Given the description of an element on the screen output the (x, y) to click on. 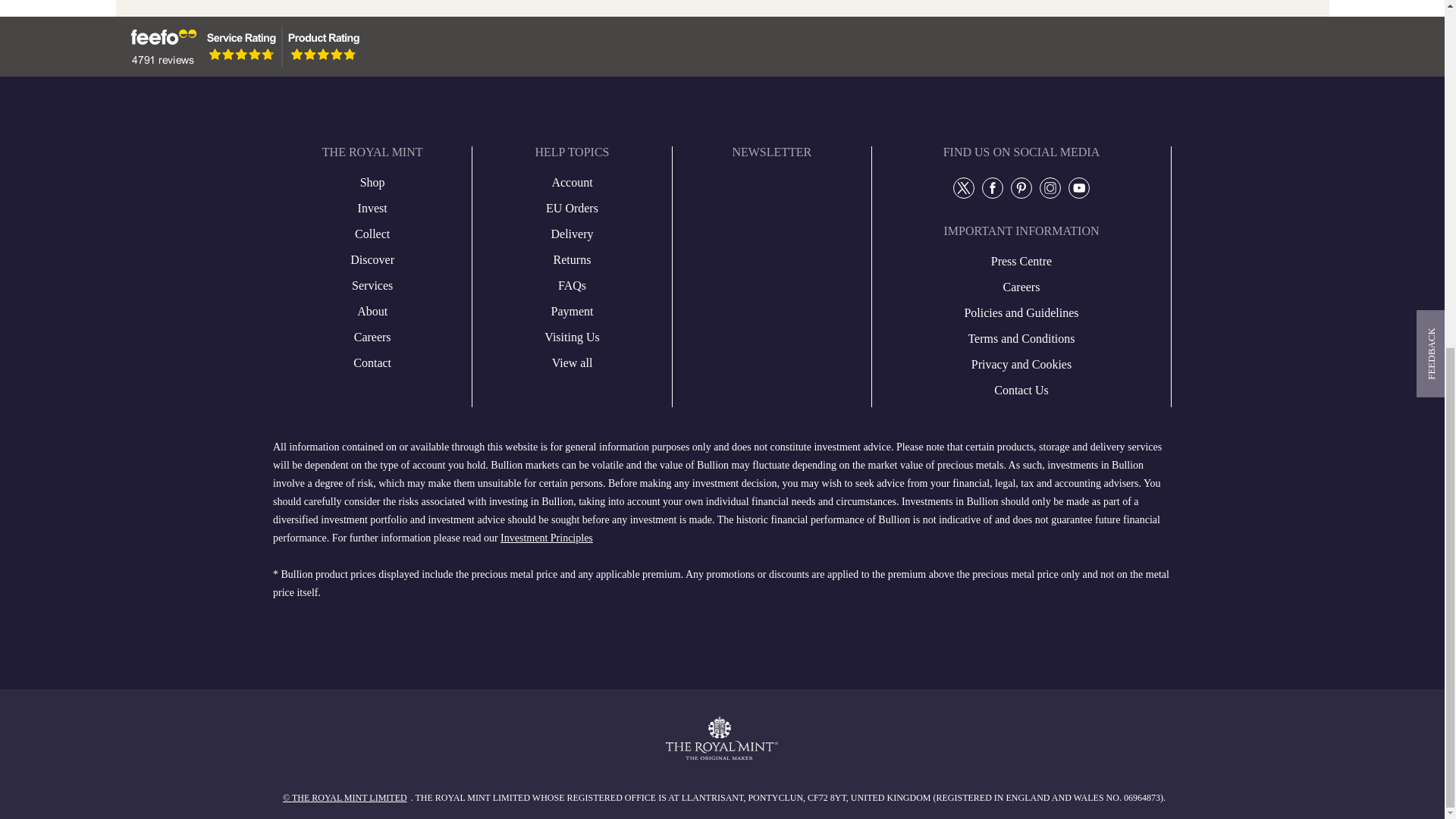
YouTube (1078, 187)
Press Centre (372, 311)
Orders to the European Union (571, 208)
Press Centre (372, 285)
View all help topics (571, 362)
Pintrest (1020, 187)
Read more independent Royal Mint reviews on Feefo (242, 46)
Our Location (372, 259)
Facebook (992, 187)
Instagram (1050, 187)
